Given the description of an element on the screen output the (x, y) to click on. 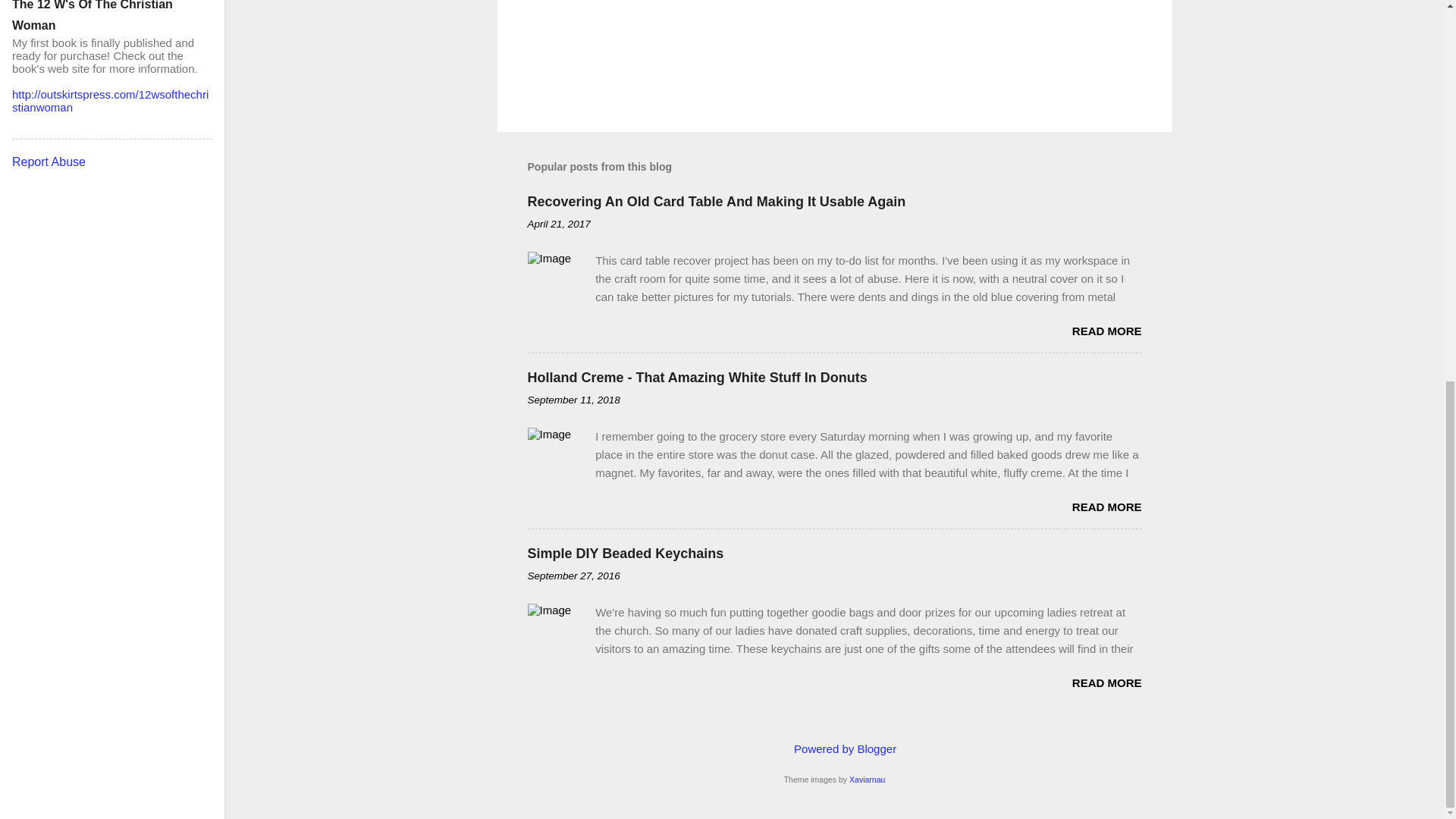
April 21, 2017 (559, 224)
September 27, 2016 (573, 575)
Powered by Blogger (834, 748)
Simple DIY Beaded Keychains (625, 553)
permanent link (559, 224)
Xaviarnau (866, 778)
READ MORE (1106, 330)
September 11, 2018 (573, 399)
READ MORE (1106, 682)
Recovering An Old Card Table And Making It Usable Again (716, 201)
READ MORE (1106, 506)
Holland Creme - That Amazing White Stuff In Donuts (697, 377)
